Given the description of an element on the screen output the (x, y) to click on. 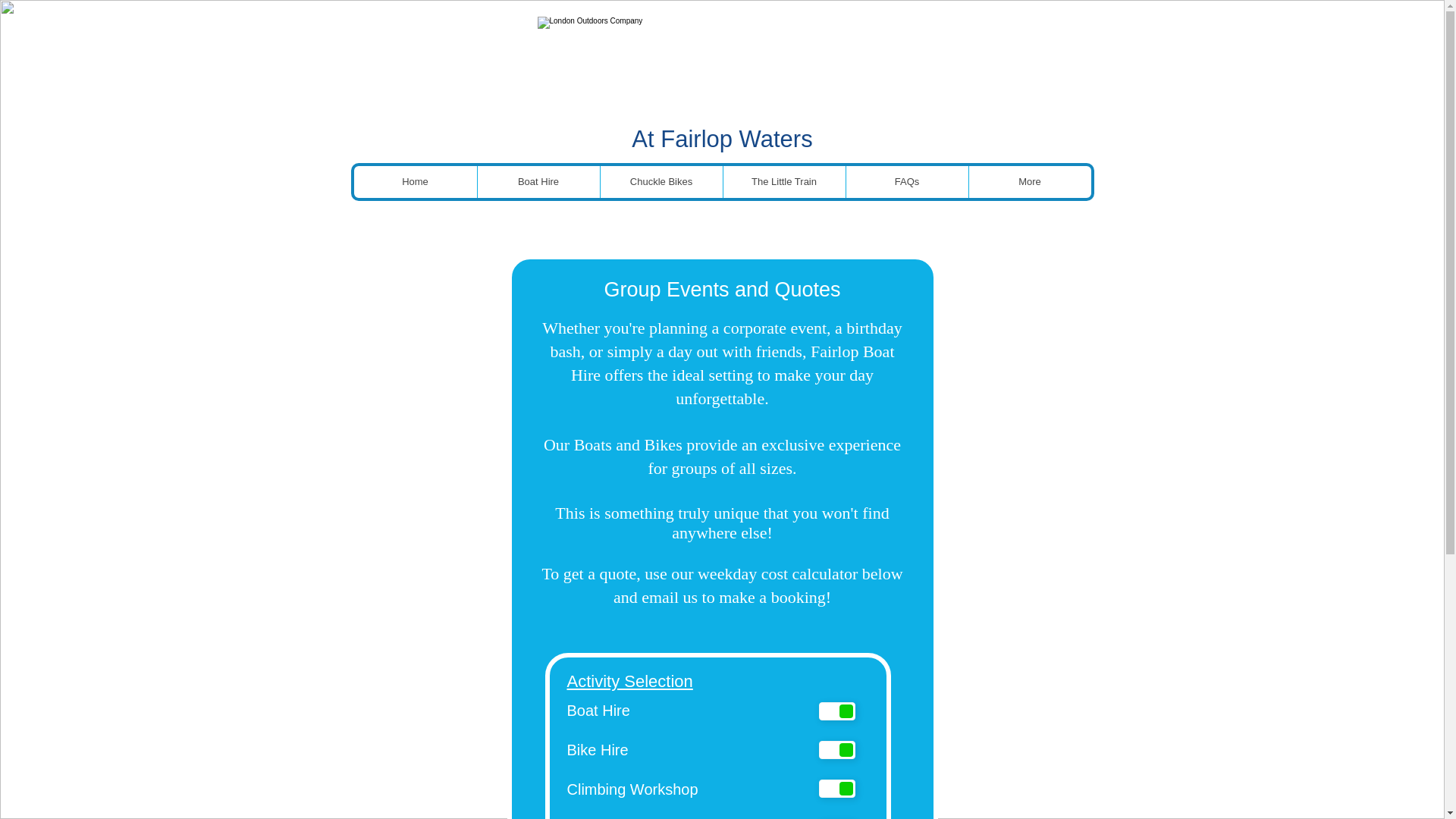
Chuckle Bikes (660, 182)
Home (414, 182)
Boat Hire (537, 182)
FAQs (906, 182)
The Little Train (783, 182)
